Given the description of an element on the screen output the (x, y) to click on. 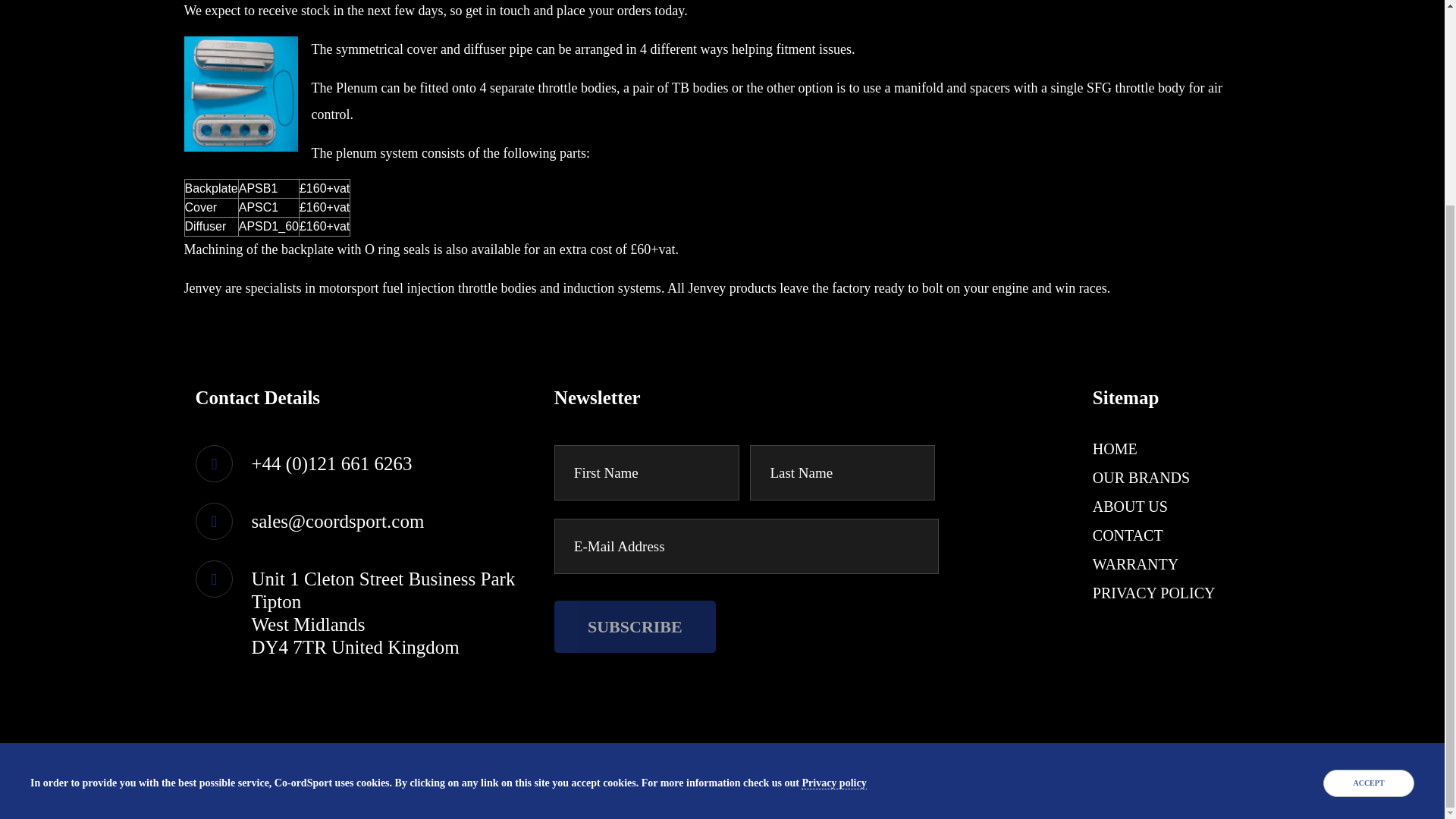
OUR BRANDS (1141, 477)
WARRANTY (1135, 564)
Privacy policy (834, 519)
HOME (1115, 449)
ABOUT US (1130, 506)
SUBSCRIBE (635, 626)
PRIVACY POLICY (1154, 593)
ACCEPT (1368, 519)
CONTACT (1128, 535)
